Given the description of an element on the screen output the (x, y) to click on. 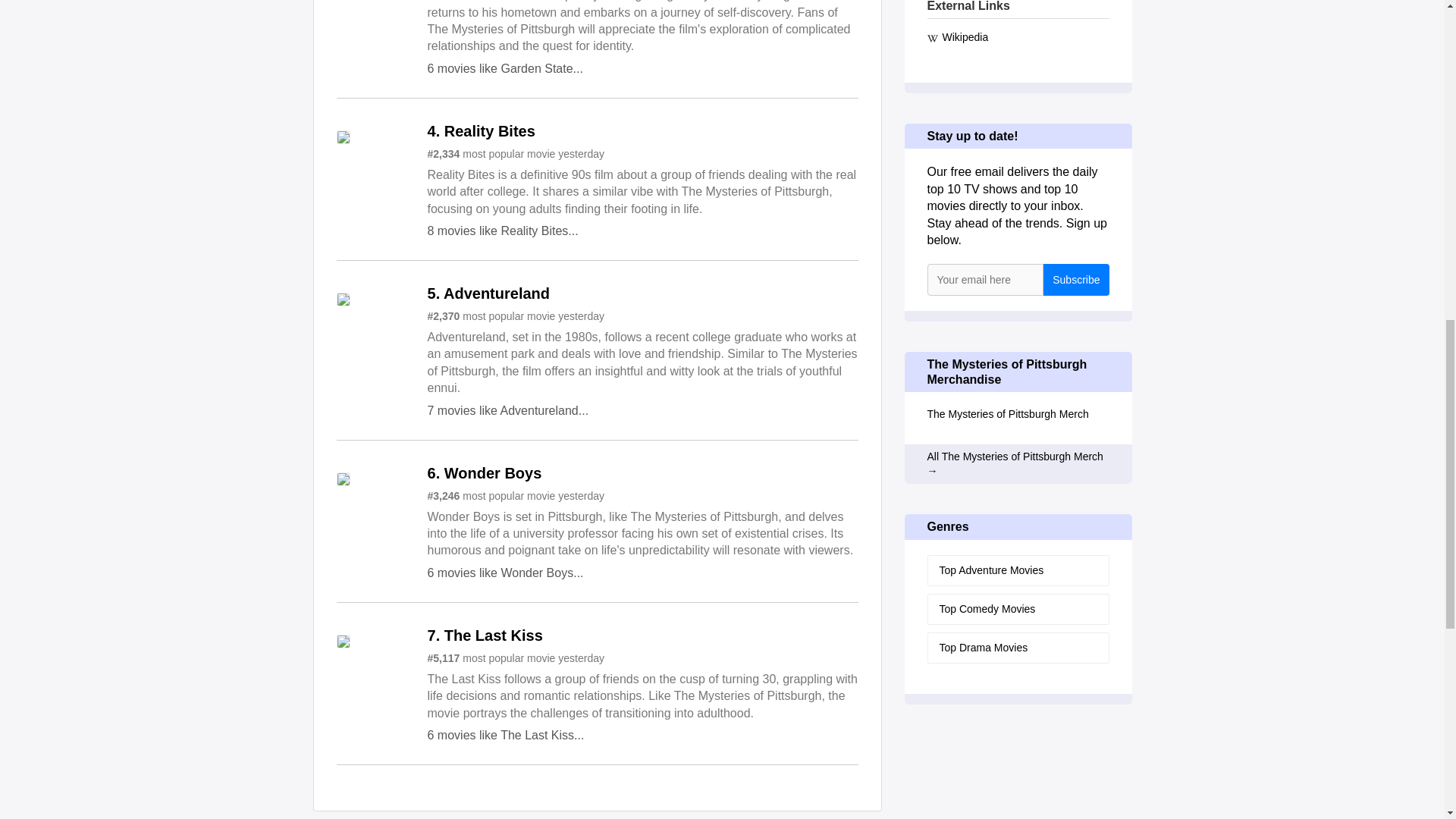
6 movies like Garden State... (505, 68)
Wikipedia (1017, 37)
6 movies like The Last Kiss... (506, 735)
4. Reality Bites (481, 132)
Subscribe (1075, 279)
5. Adventureland (489, 294)
8 movies like Reality Bites... (503, 230)
7 movies like Adventureland... (508, 410)
6 movies like Wonder Boys... (505, 572)
7. The Last Kiss (485, 635)
6. Wonder Boys (484, 473)
